Given the description of an element on the screen output the (x, y) to click on. 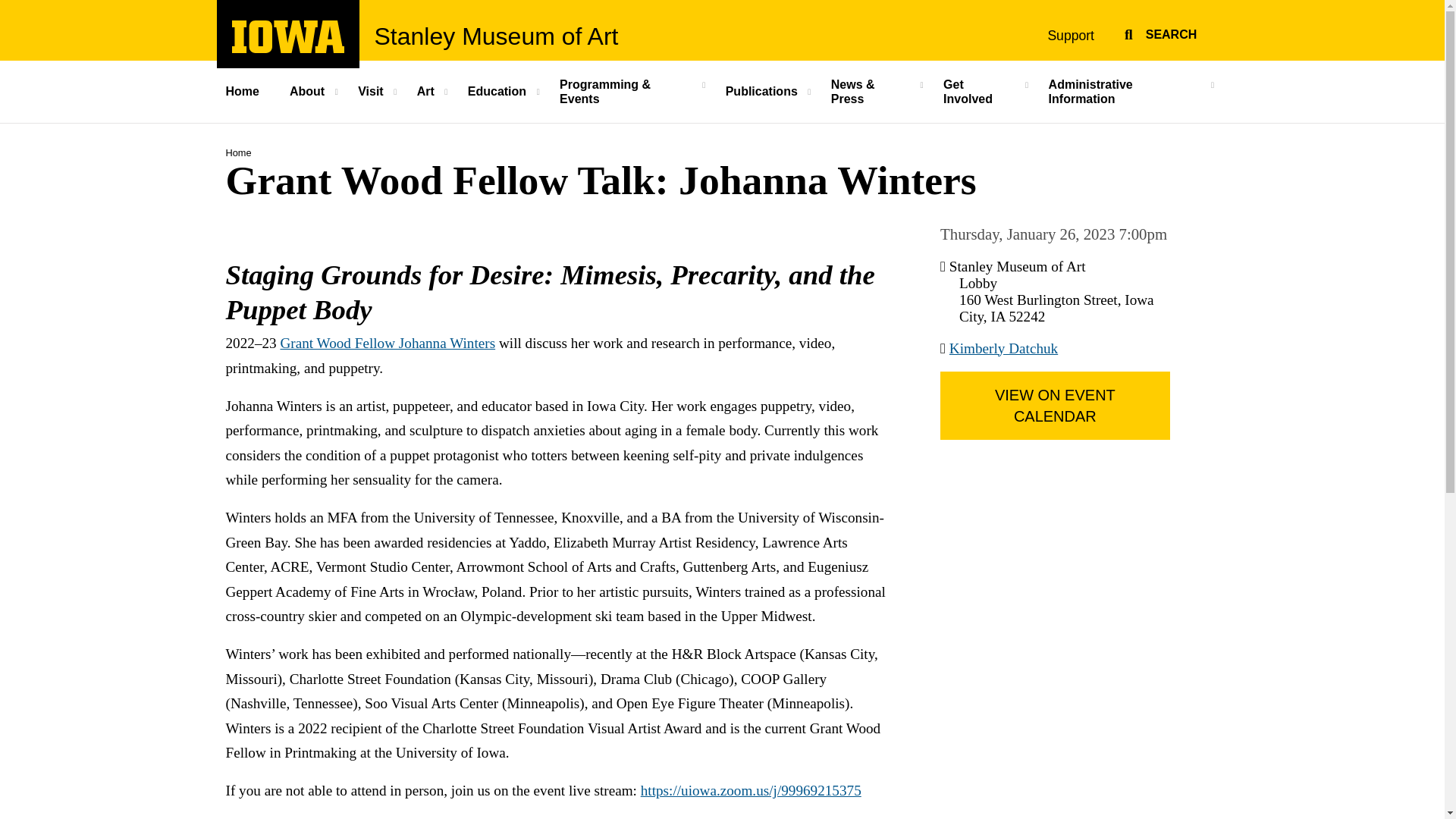
Stanley Museum of Art (496, 36)
Home (288, 48)
SEARCH (250, 91)
Visit (1157, 32)
Support (371, 91)
About (1070, 34)
Skip to main content (308, 91)
Education (7, 7)
Art (498, 91)
